Given the description of an element on the screen output the (x, y) to click on. 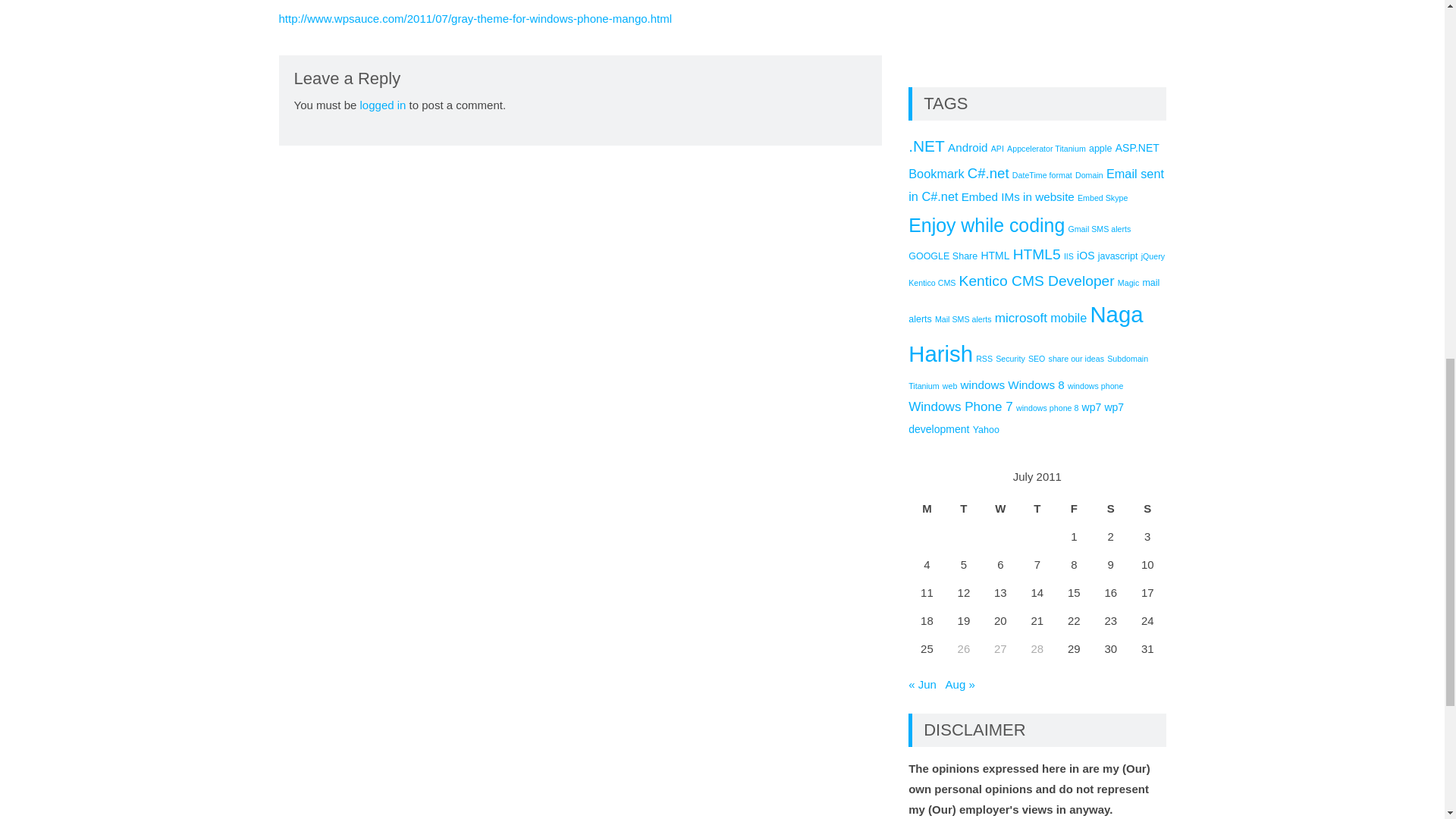
API (997, 148)
Android (967, 146)
.NET (926, 145)
logged in (382, 104)
